Given the description of an element on the screen output the (x, y) to click on. 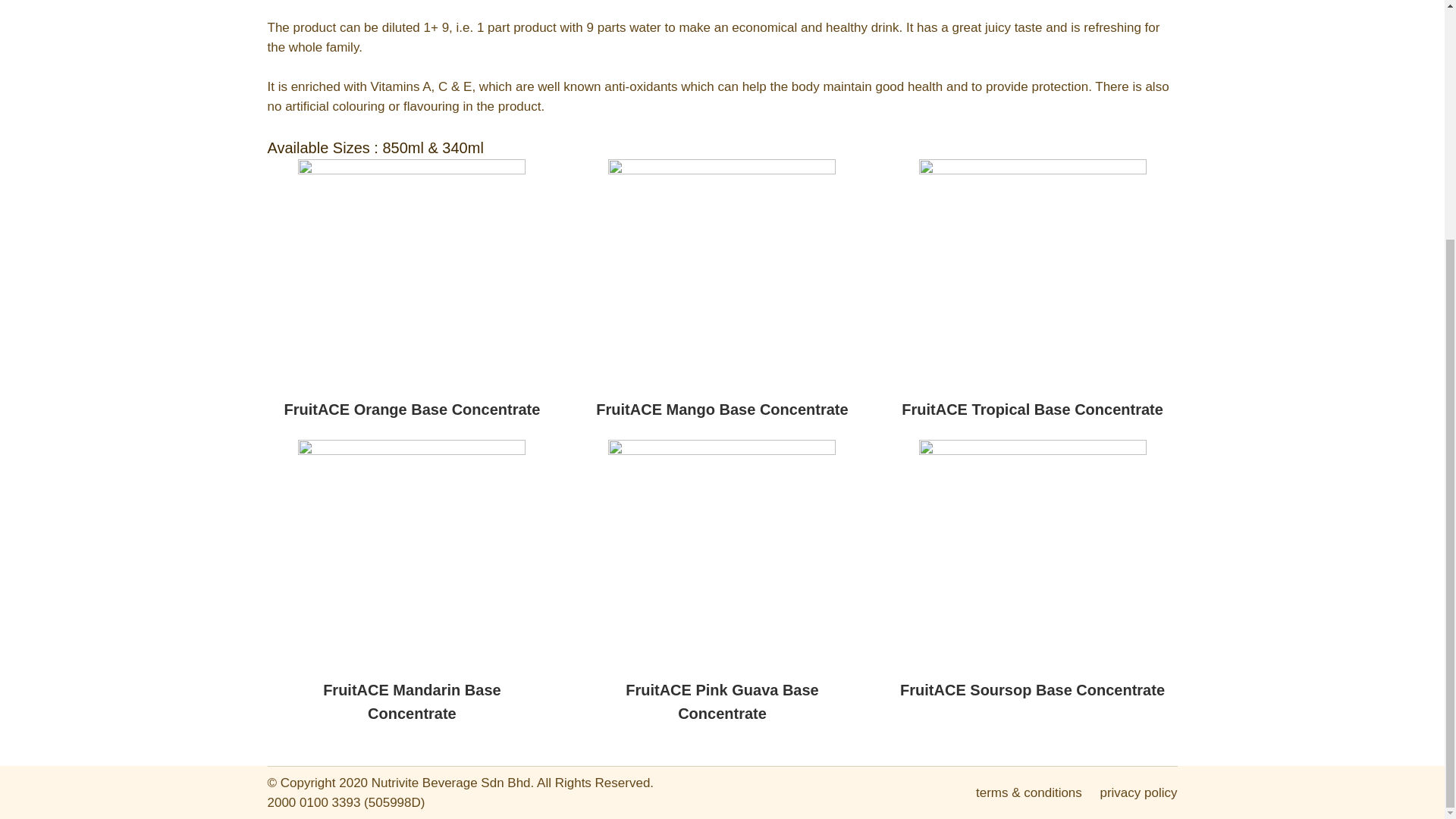
FruitACE Mandarin Base Concentrate (411, 696)
FruitACE Tropical Base Concentrate (1032, 403)
FruitACE Pink Guava Base Concentrate (722, 696)
privacy policy (1137, 792)
FruitACE Soursop Base Concentrate (1032, 684)
FruitACE Orange Base Concentrate (411, 403)
FruitACE Mango Base Concentrate (722, 403)
